Given the description of an element on the screen output the (x, y) to click on. 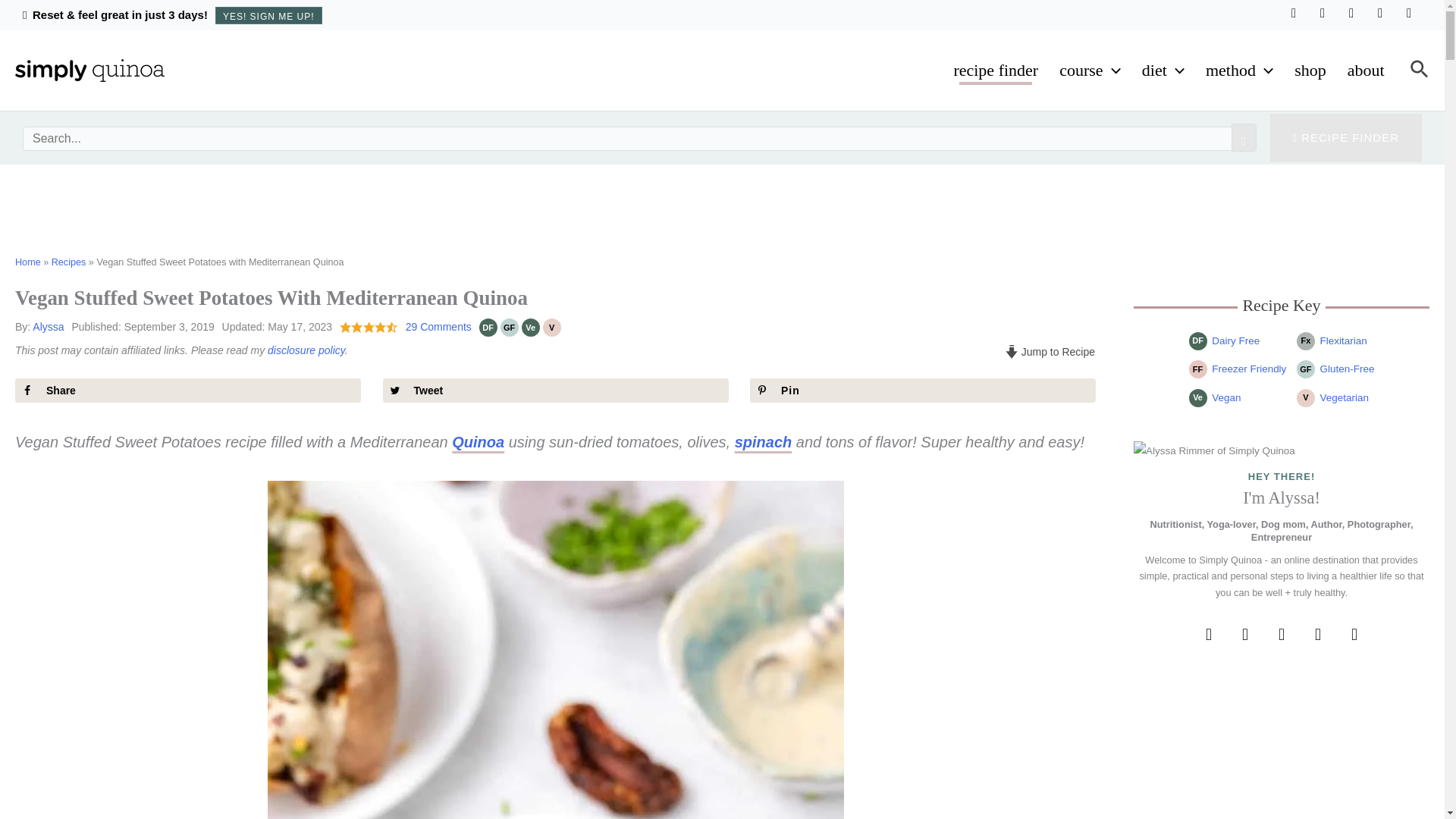
Save to Pinterest (922, 390)
Pinterest (1380, 12)
Search (1243, 137)
Gluten-Free (509, 327)
Vegan (530, 327)
Share on Facebook (187, 390)
Youtube (1409, 12)
Instagram (1351, 12)
Posts by Alyssa (48, 326)
RECIPE FINDER (1345, 137)
